Given the description of an element on the screen output the (x, y) to click on. 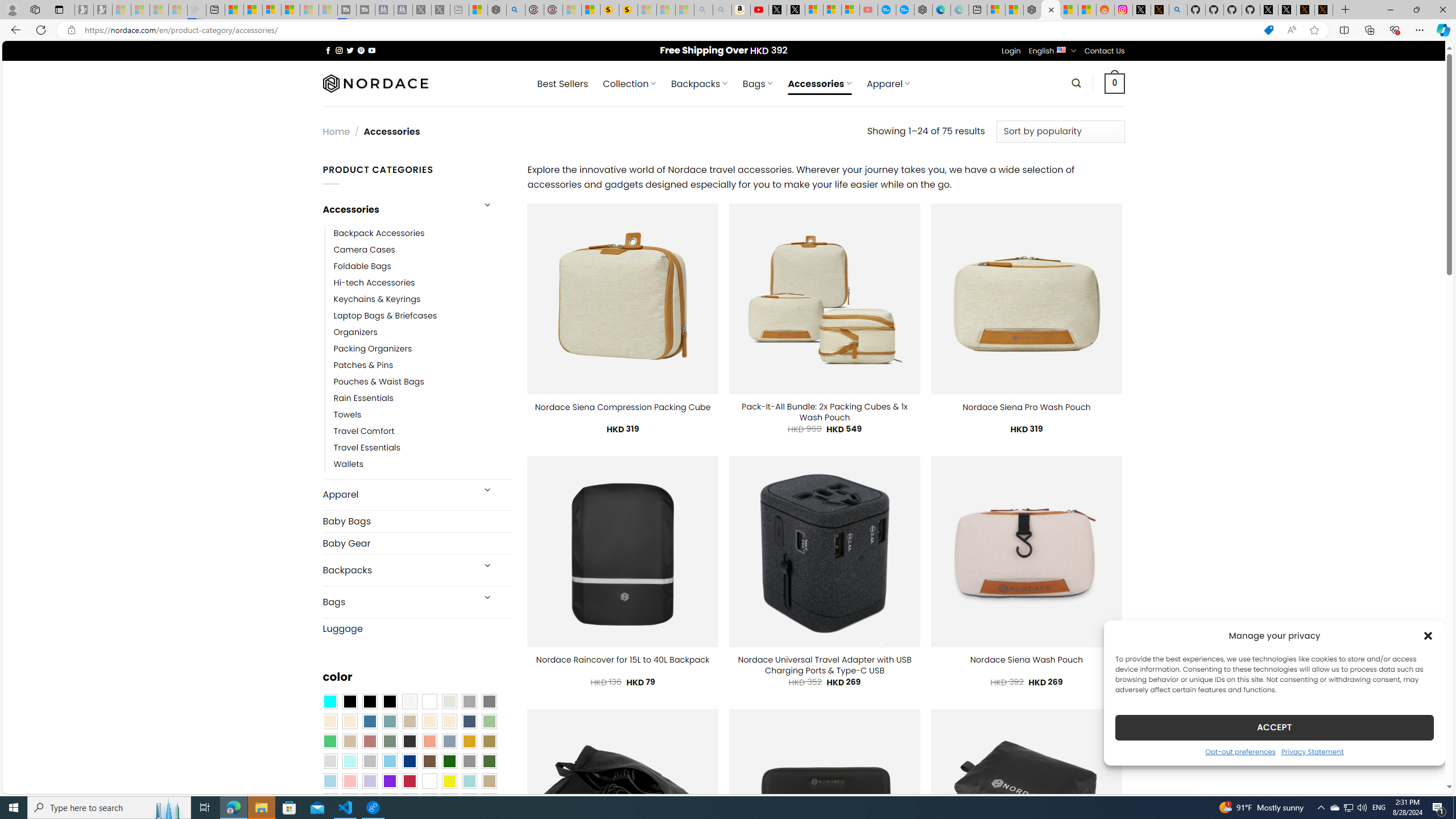
Foldable Bags (362, 265)
Light Green (488, 721)
Brown (429, 761)
Cream (449, 721)
Nordace Siena Pro Wash Pouch (1026, 406)
Green (488, 761)
Opinion: Op-Ed and Commentary - USA TODAY (887, 9)
Amazon Echo Dot PNG - Search Images - Sleeping (721, 9)
Follow on Pinterest (360, 49)
White (429, 780)
Hi-tech Accessories (373, 282)
Follow on Twitter (349, 49)
